Given the description of an element on the screen output the (x, y) to click on. 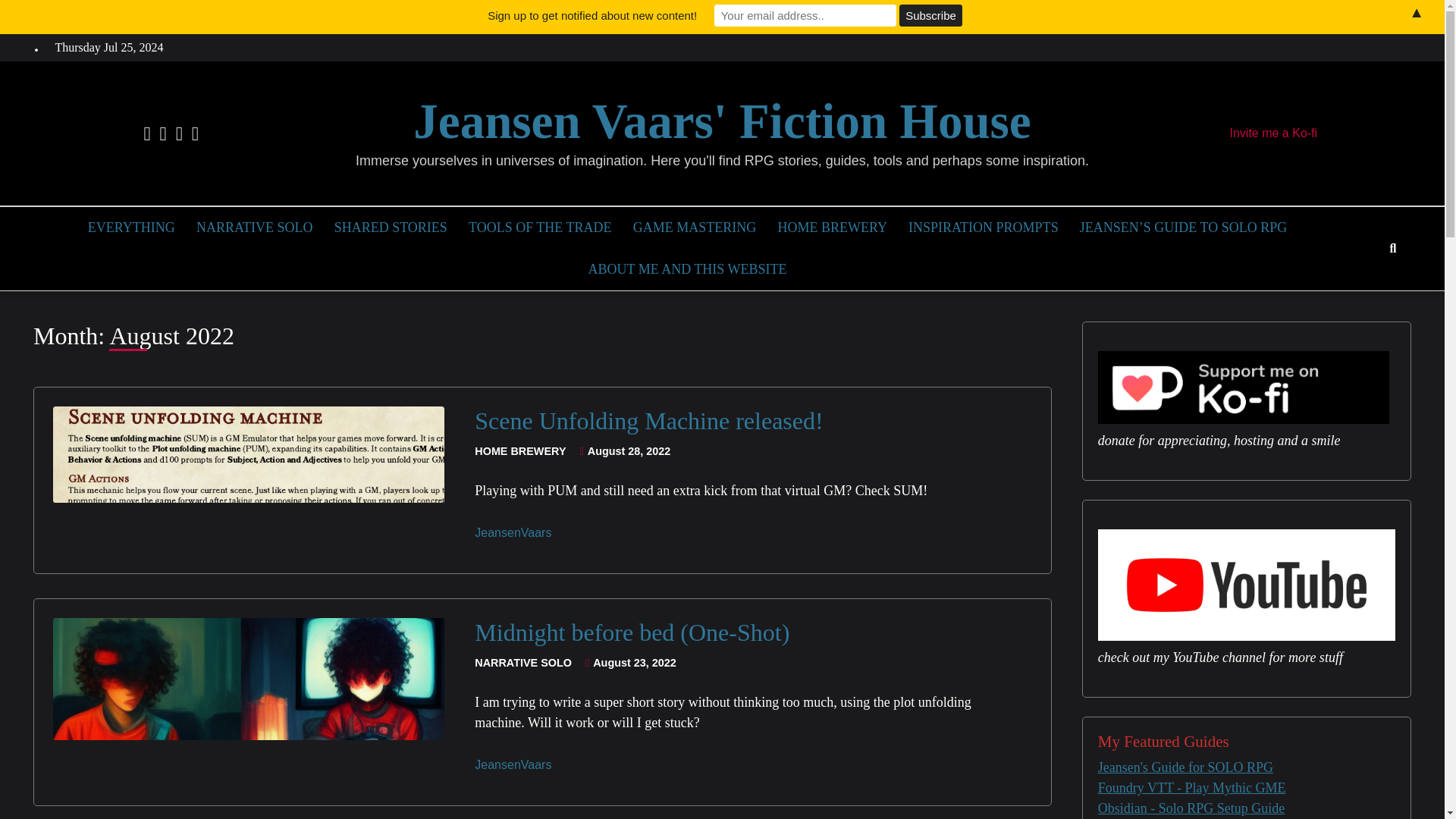
ABOUT ME AND THIS WEBSITE (687, 274)
HOME BREWERY (831, 232)
Scene Unfolding Machine released! (648, 420)
Jeansen Vaars' Fiction House (721, 121)
TOOLS OF THE TRADE (539, 232)
GAME MASTERING (695, 232)
JeansenVaars (515, 532)
August 28, 2022 (623, 451)
NARRATIVE SOLO (525, 663)
INSPIRATION PROMPTS (983, 232)
Invite me a Ko-fi (1273, 132)
EVERYTHING (130, 232)
HOME BREWERY (522, 451)
NARRATIVE SOLO (254, 232)
Subscribe (930, 15)
